Given the description of an element on the screen output the (x, y) to click on. 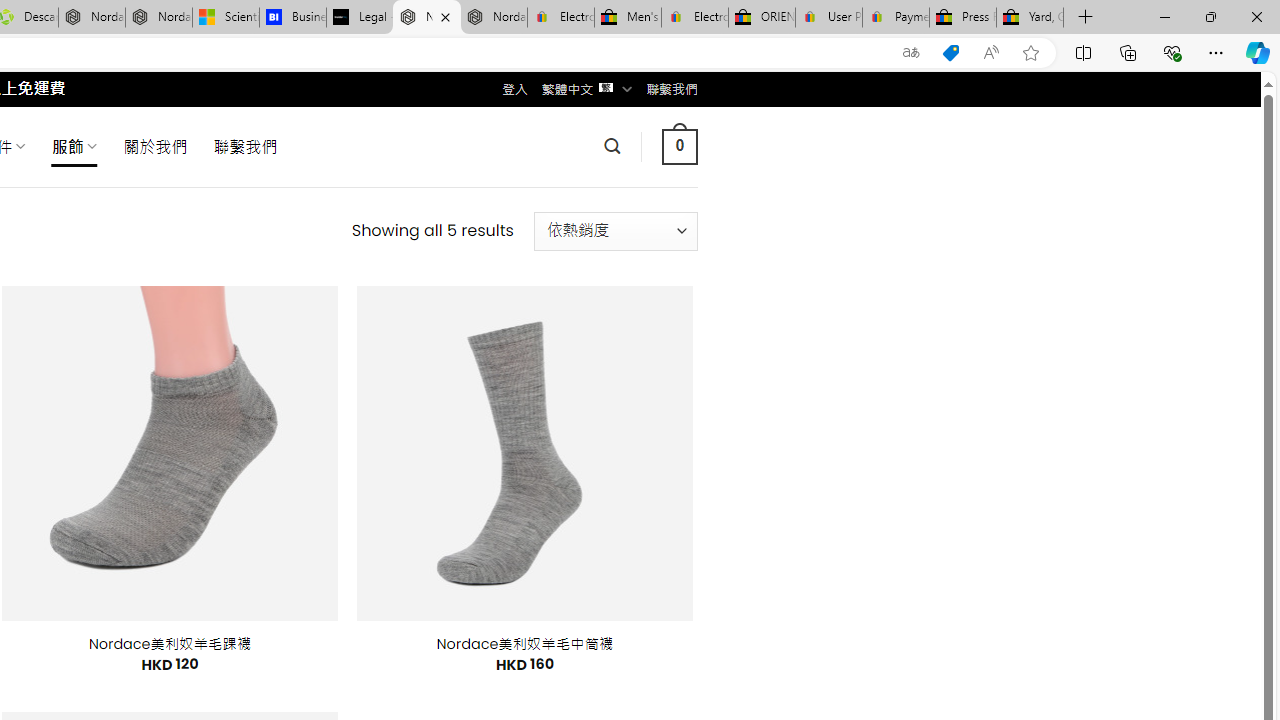
Press Room - eBay Inc. (962, 17)
User Privacy Notice | eBay (828, 17)
